Given the description of an element on the screen output the (x, y) to click on. 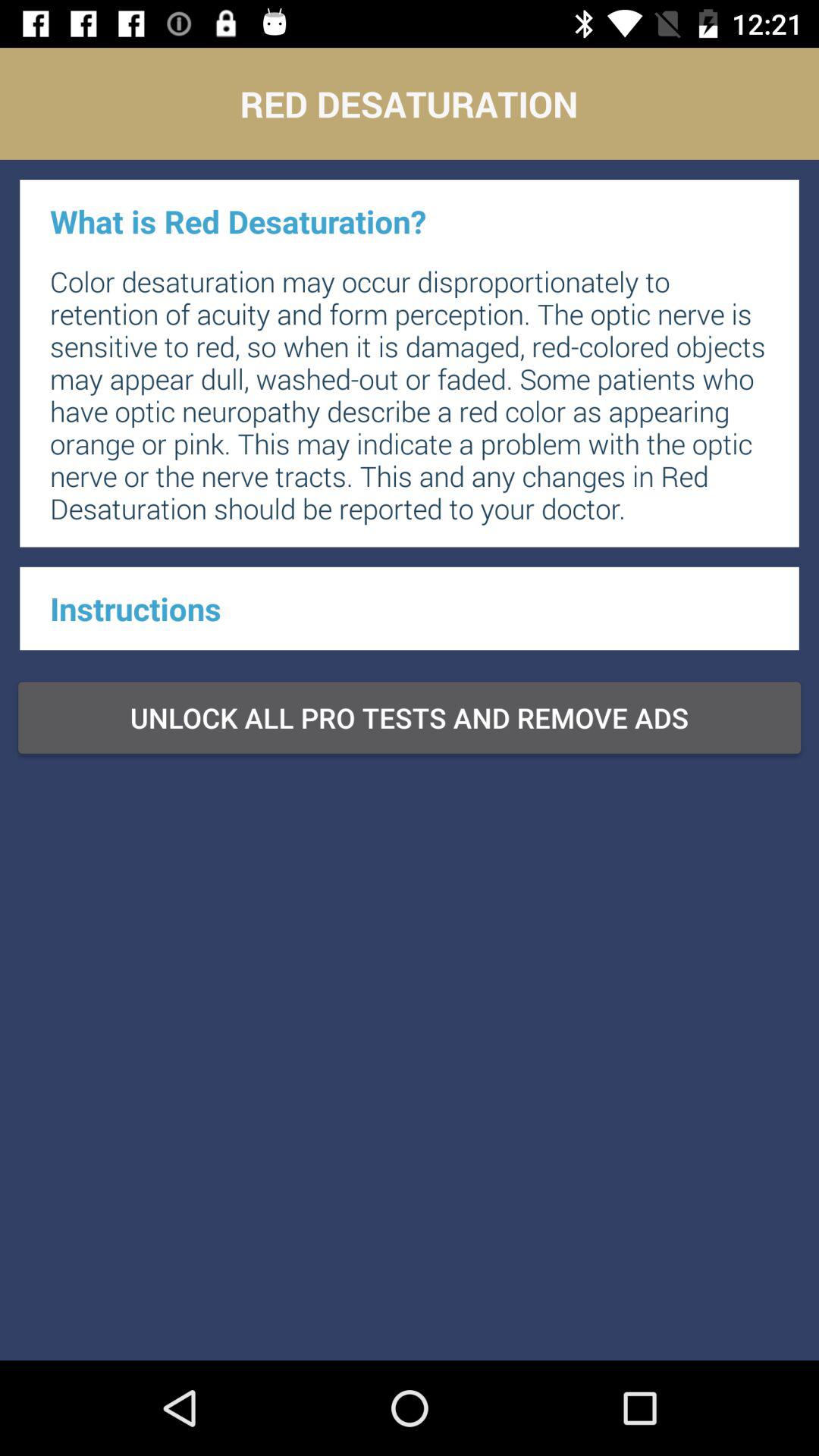
swipe to the unlock all pro item (409, 717)
